Given the description of an element on the screen output the (x, y) to click on. 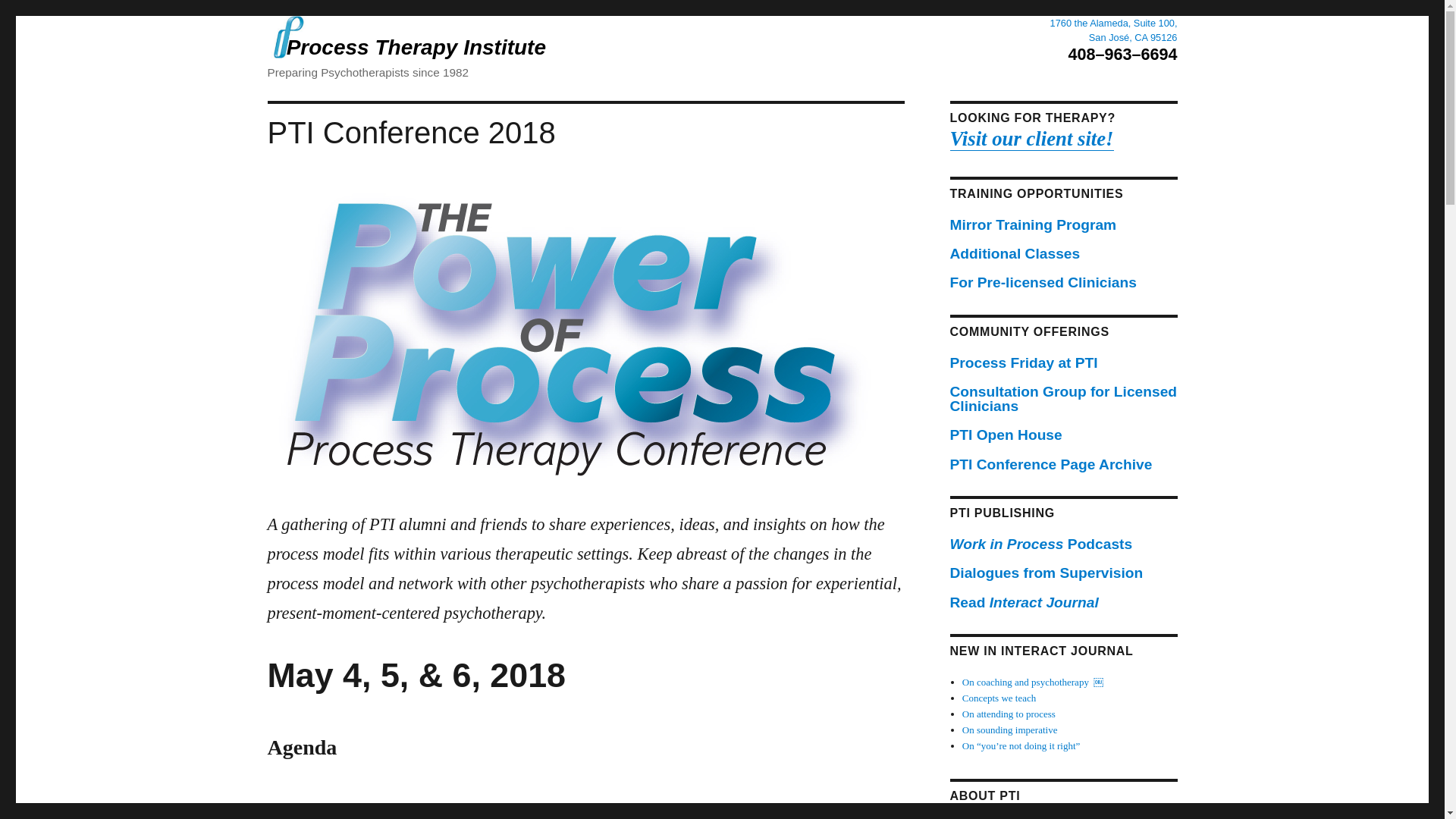
Consultation Group for Licensed Clinicians (1062, 399)
Process Friday at PTI (1023, 362)
Click to get Map (1113, 30)
On attending to process (1008, 713)
PTI Conference Page Archive (1050, 464)
Visit our client site! (1031, 138)
For Pre-licensed Clinicians (1042, 282)
Mirror Training Program (1032, 224)
Work in Process Podcasts (1040, 544)
PTI Open House (1005, 434)
